Given the description of an element on the screen output the (x, y) to click on. 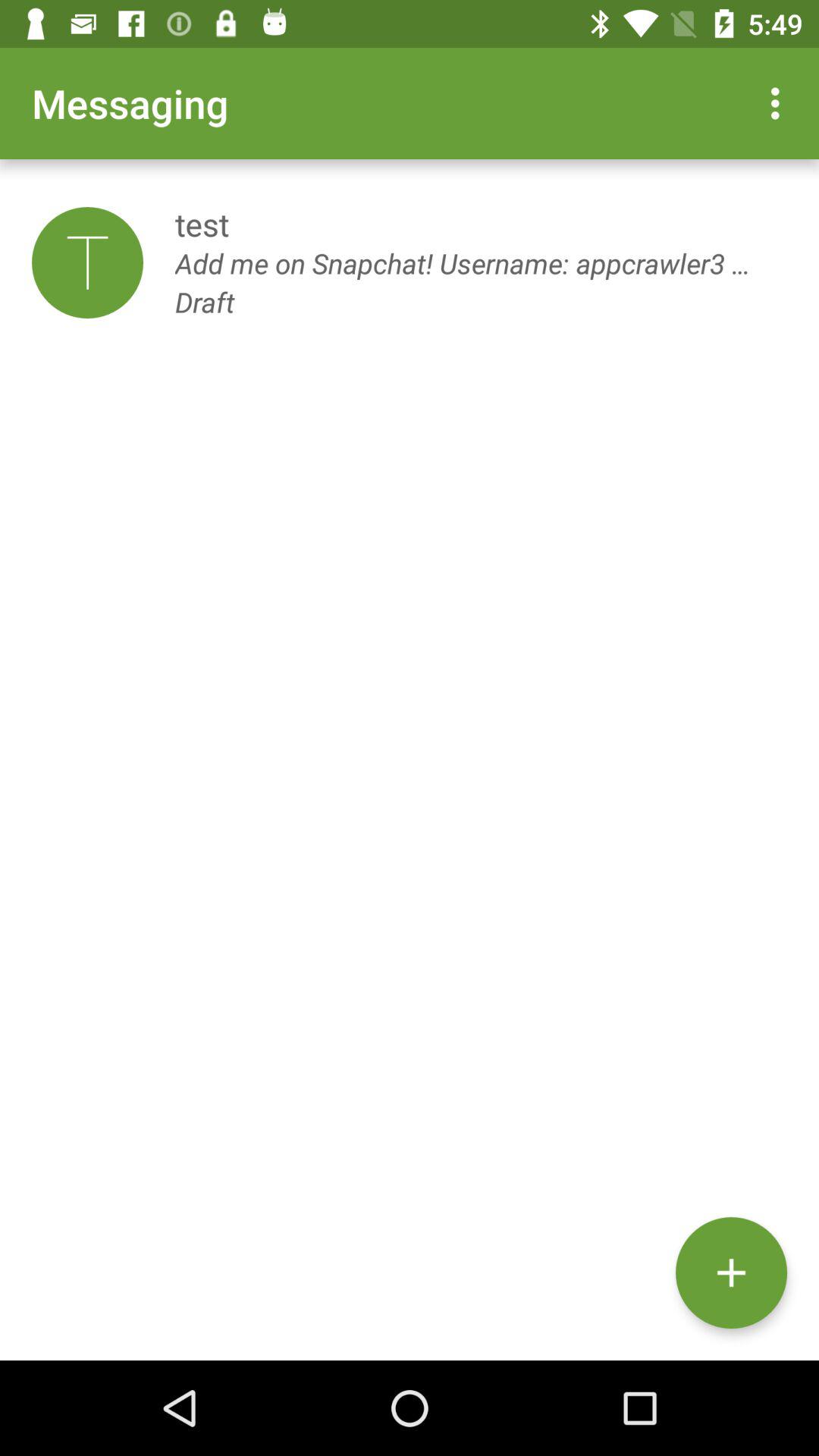
choose the icon to the right of the messaging (779, 103)
